Given the description of an element on the screen output the (x, y) to click on. 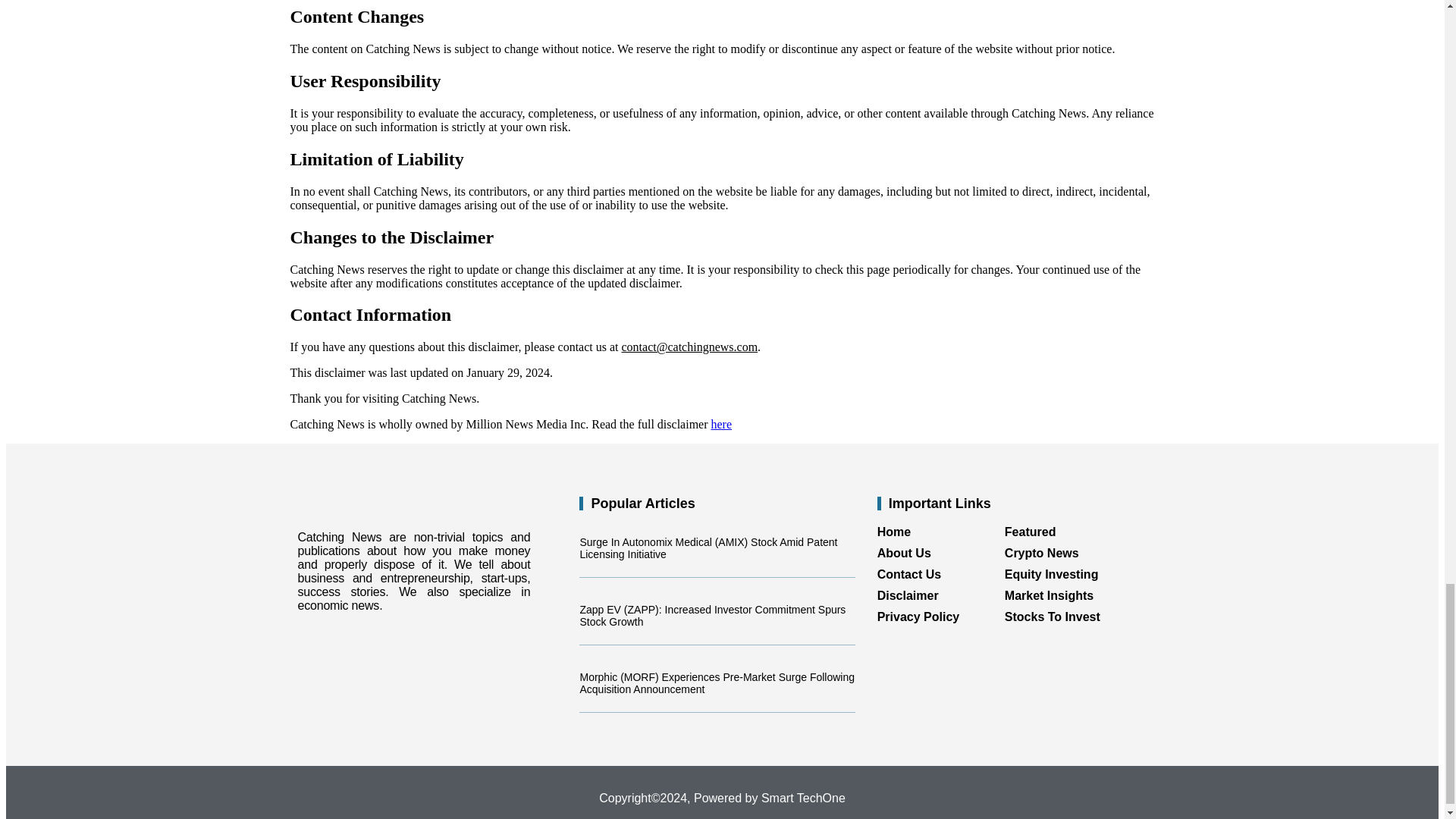
Stocks To Invest (1068, 617)
here (721, 423)
Contact Us (940, 574)
Disclaimer (940, 595)
Market Insights (1068, 595)
Equity Investing (1068, 574)
Privacy Policy (940, 617)
Featured (1068, 531)
Crypto News (1068, 553)
About Us (940, 553)
Home (940, 531)
